Given the description of an element on the screen output the (x, y) to click on. 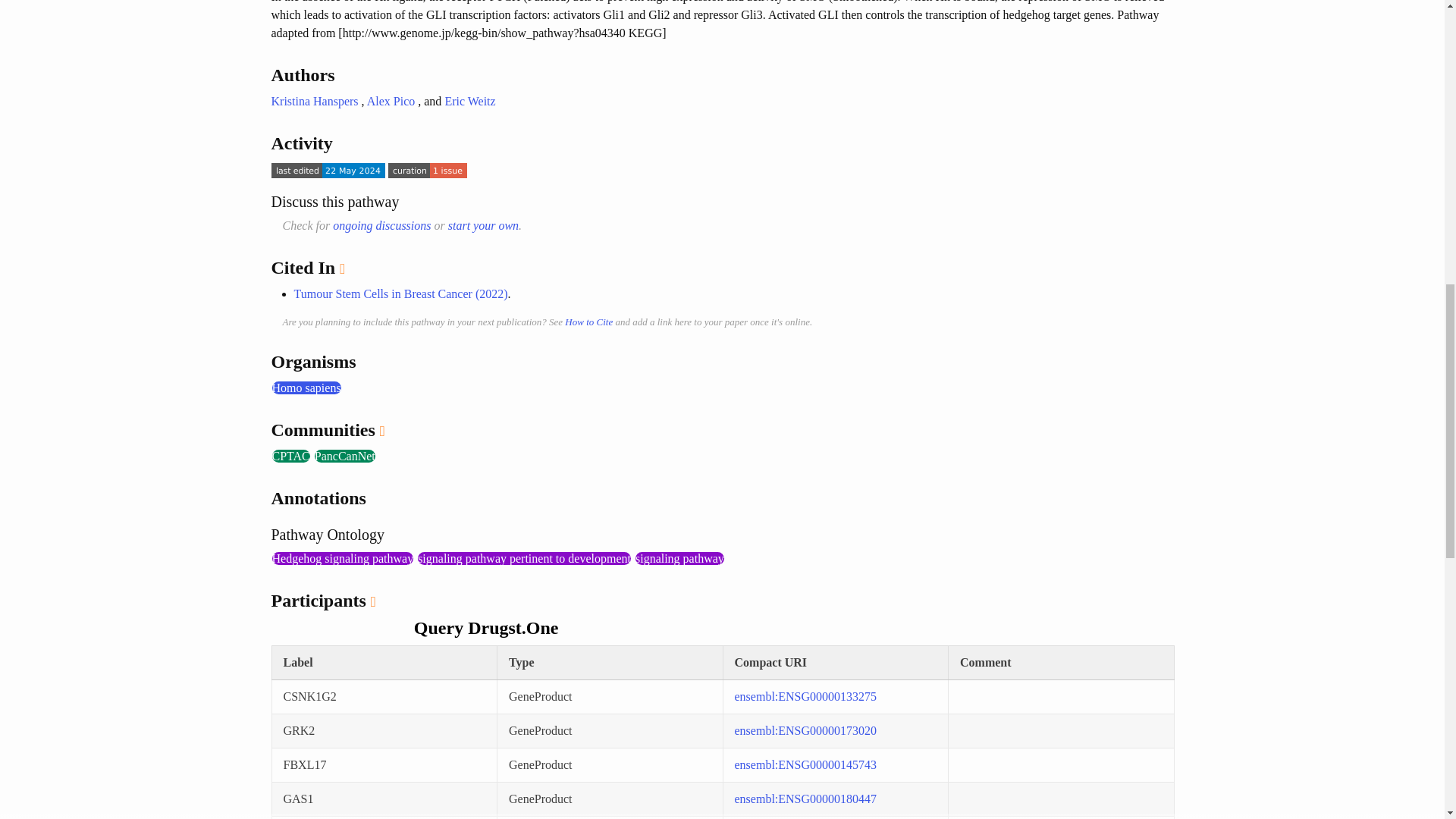
View author profile (390, 101)
Eric Weitz (469, 101)
Link to PMC9099719 (401, 293)
View author profile (314, 101)
start your own (483, 225)
ongoing discussions (381, 225)
Kristina Hanspers (314, 101)
View author profile (469, 101)
Alex Pico (390, 101)
